Given the description of an element on the screen output the (x, y) to click on. 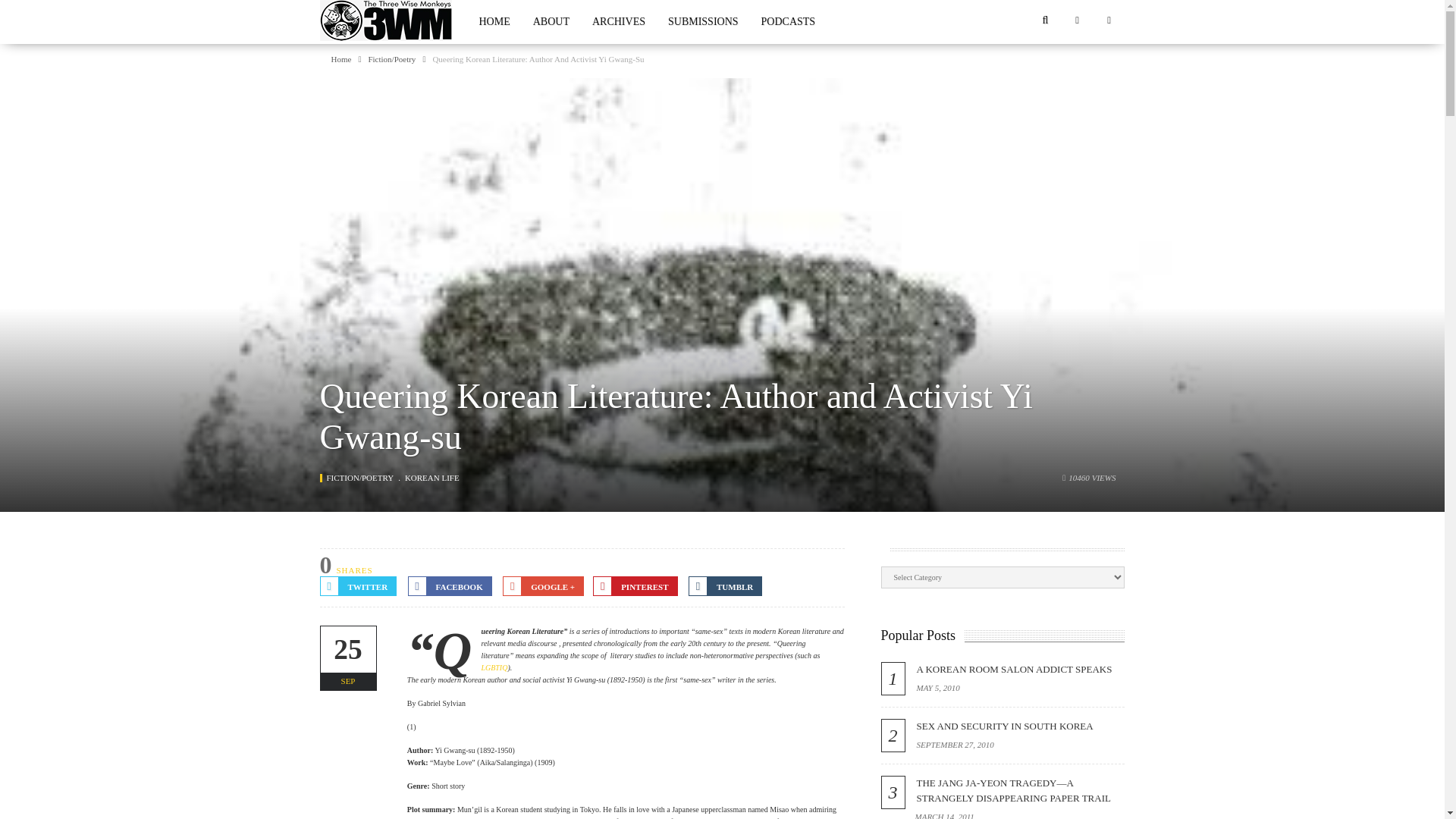
TUMBLR (724, 586)
ABOUT (550, 22)
LGBTIQ (493, 667)
Home (340, 58)
ARCHIVES (618, 22)
HOME (494, 22)
PINTEREST (634, 586)
SUBMISSIONS (702, 22)
Home (340, 58)
FACEBOOK (449, 586)
PODCASTS (788, 22)
KOREAN LIFE (432, 477)
TWITTER (358, 586)
Korean Life (432, 477)
